Given the description of an element on the screen output the (x, y) to click on. 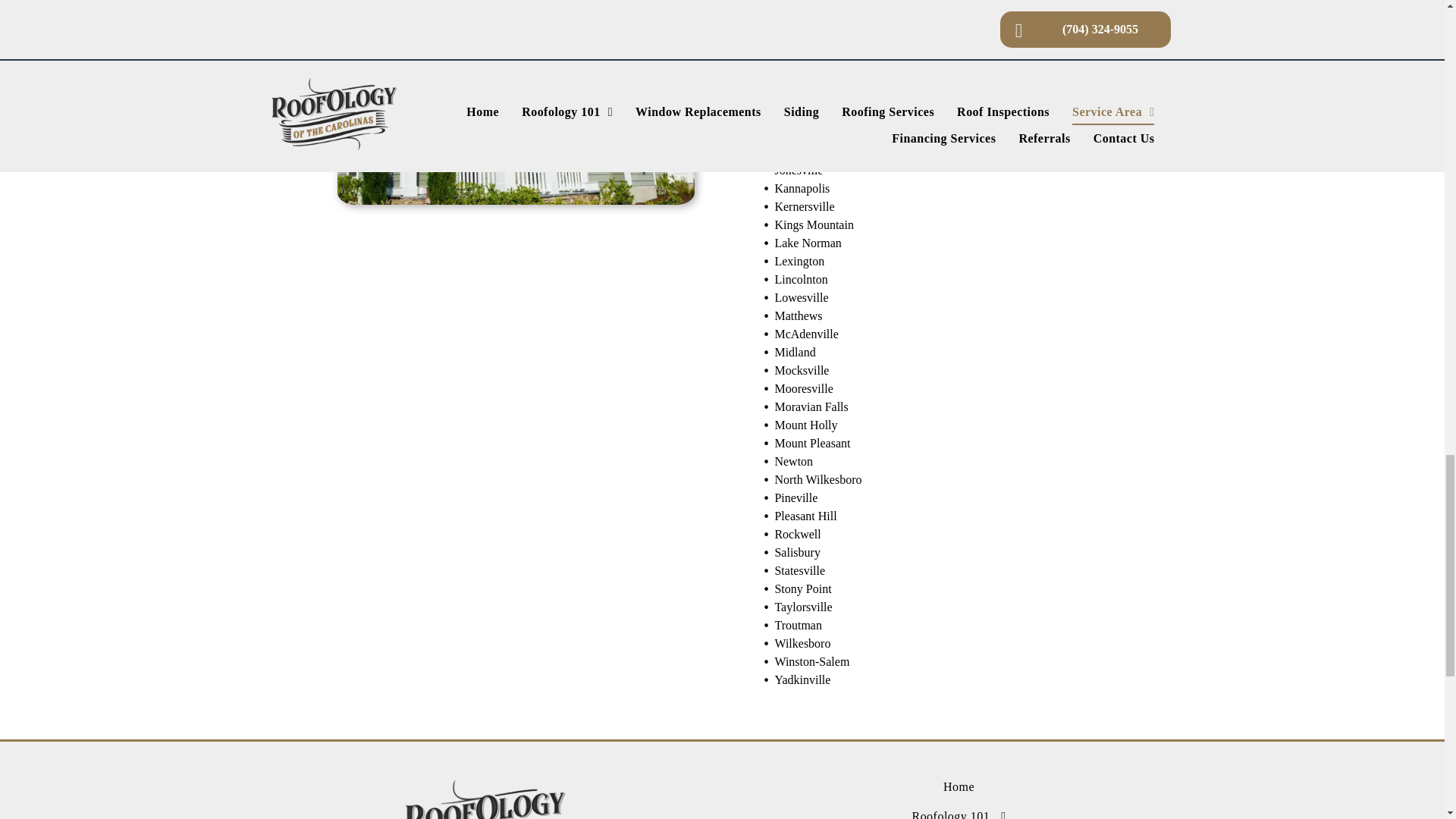
Home (958, 787)
Roofology 101 (958, 810)
